Given the description of an element on the screen output the (x, y) to click on. 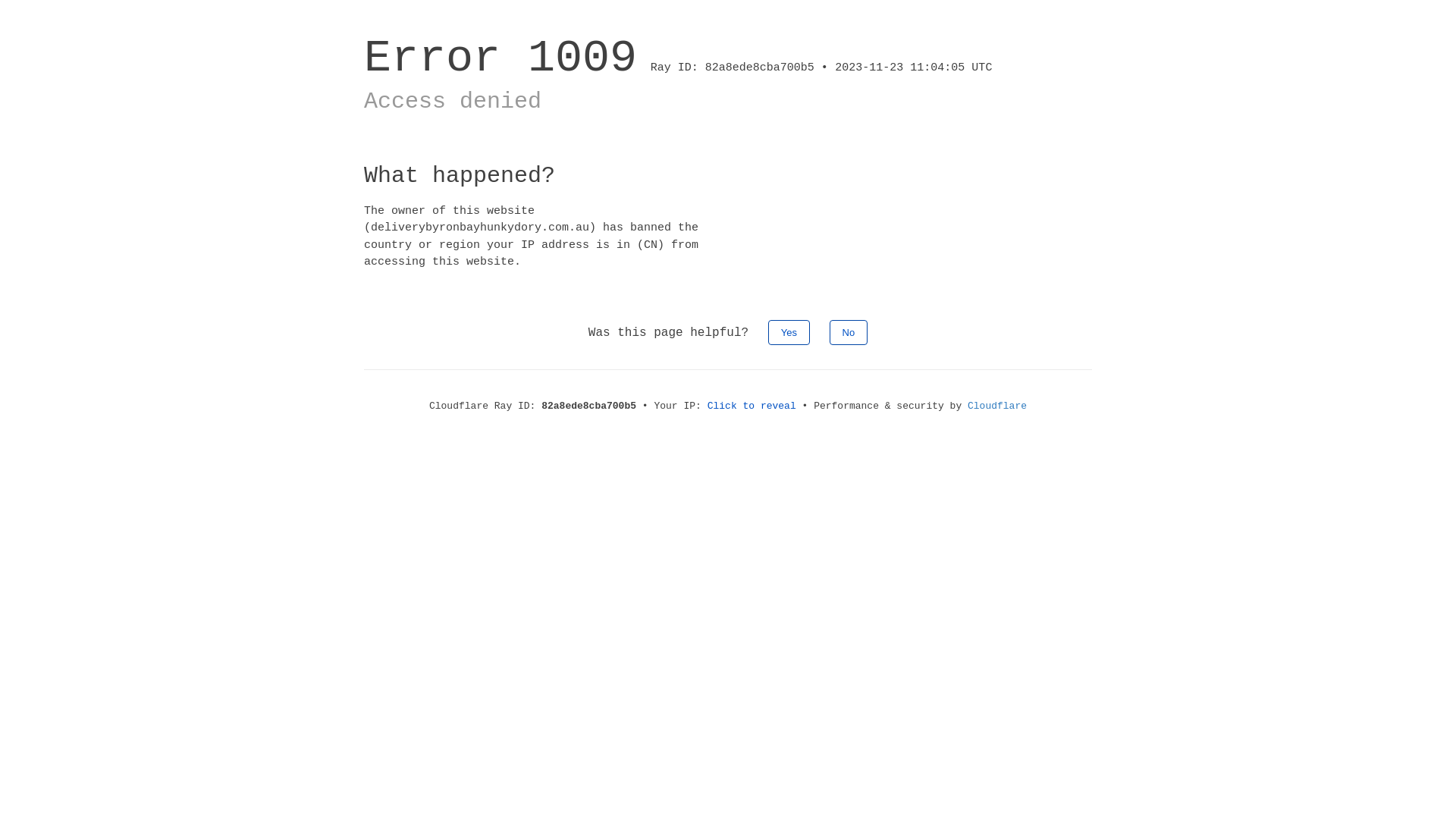
No Element type: text (848, 332)
Yes Element type: text (788, 332)
Click to reveal Element type: text (751, 405)
Cloudflare Element type: text (996, 405)
